Given the description of an element on the screen output the (x, y) to click on. 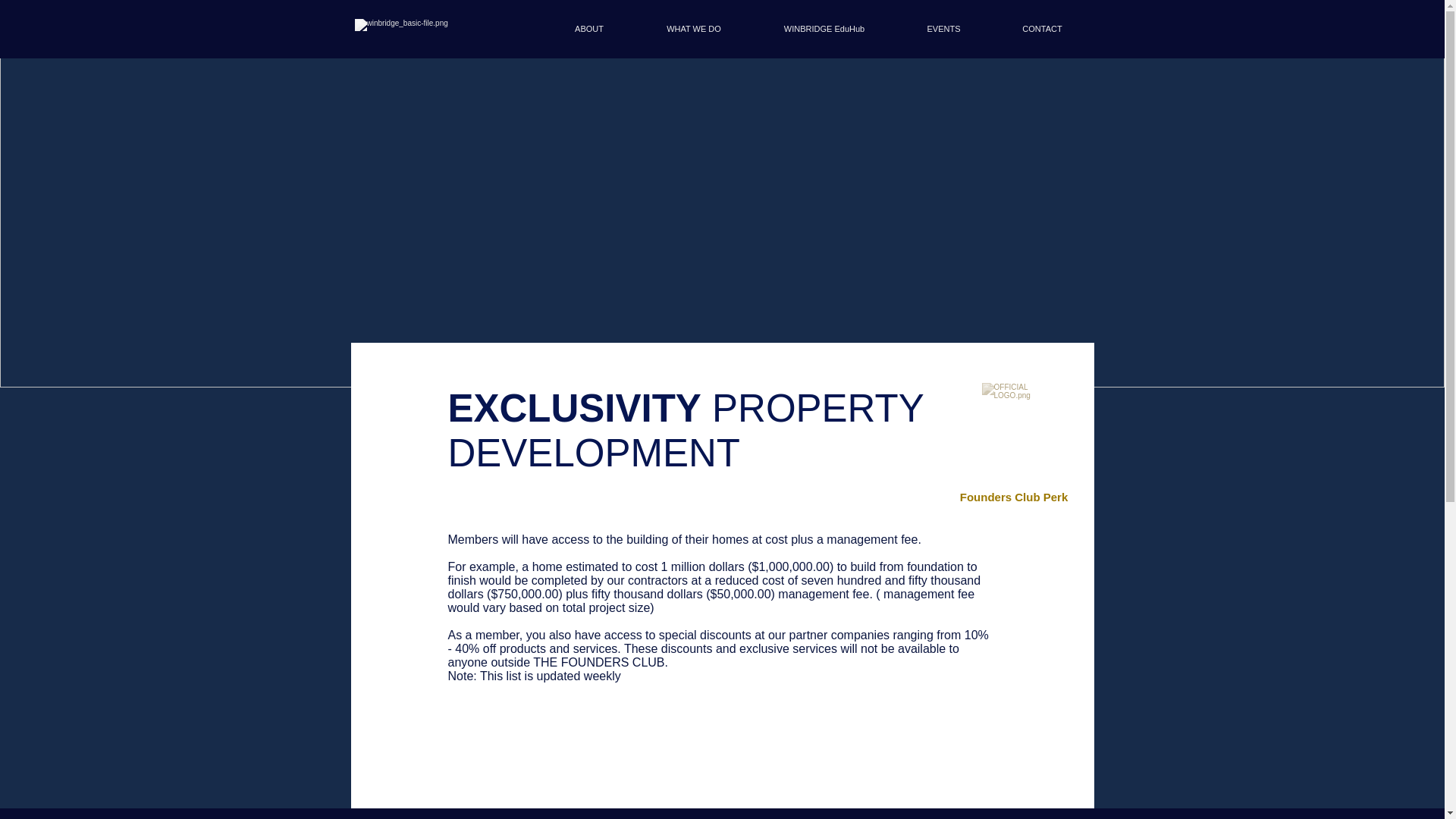
WINBRIDGE EduHub (823, 29)
WHAT WE DO (693, 29)
EVENTS (943, 29)
CONTACT (1042, 29)
ABOUT (588, 29)
